Given the description of an element on the screen output the (x, y) to click on. 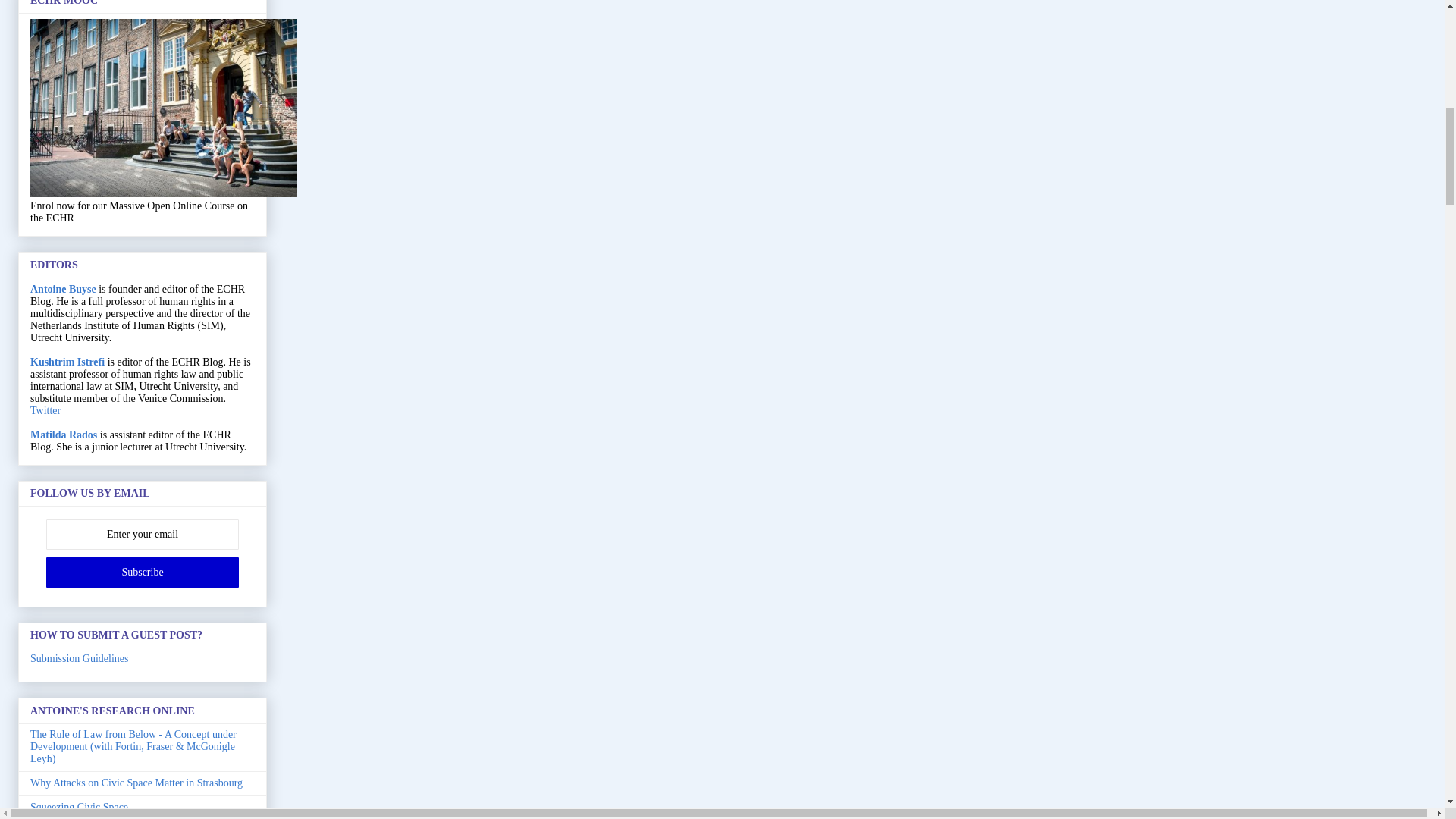
Antoine Buyse (63, 288)
Matilda Rados (63, 434)
Kushtrim Istrefi (67, 361)
Twitter (45, 410)
Why Attacks on Civic Space Matter in Strasbourg (136, 782)
Submission Guidelines (79, 658)
Squeezing Civic Space (79, 807)
Subscribe (143, 572)
